Given the description of an element on the screen output the (x, y) to click on. 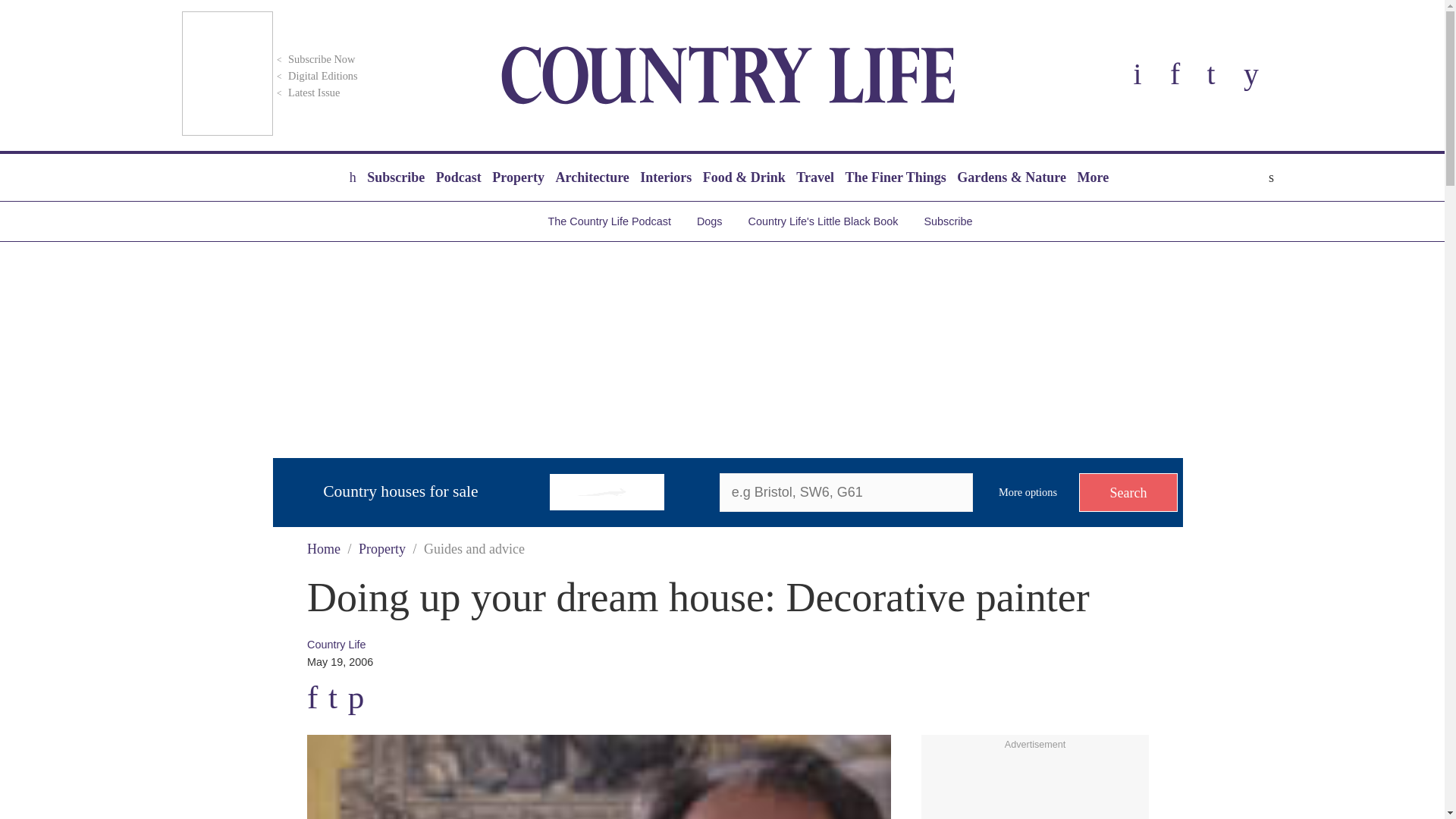
Subscribe (395, 176)
Podcast (458, 176)
The Finer Things (895, 176)
Travel (815, 176)
Property (517, 176)
Architecture (592, 176)
Interiors (665, 176)
Digital Editions (315, 75)
Country Life (727, 74)
Latest Issue (306, 92)
